Given the description of an element on the screen output the (x, y) to click on. 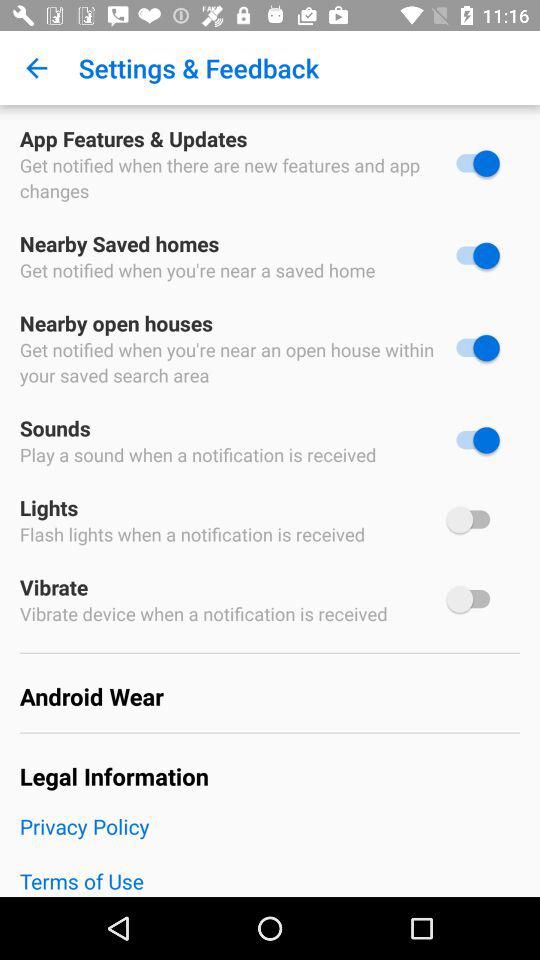
open app to the left of the settings & feedback icon (36, 68)
